Given the description of an element on the screen output the (x, y) to click on. 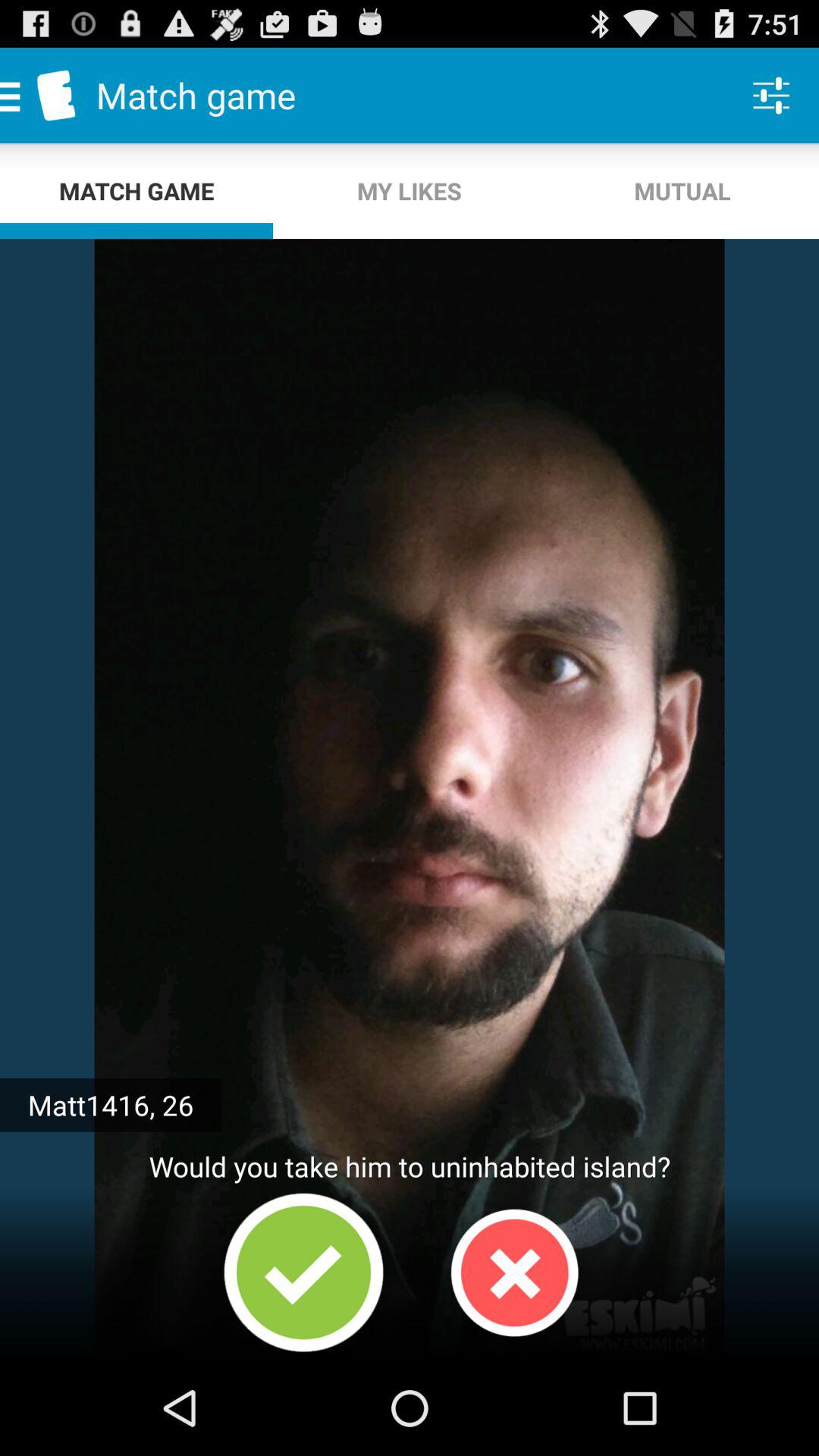
open item above the mutual (771, 95)
